Given the description of an element on the screen output the (x, y) to click on. 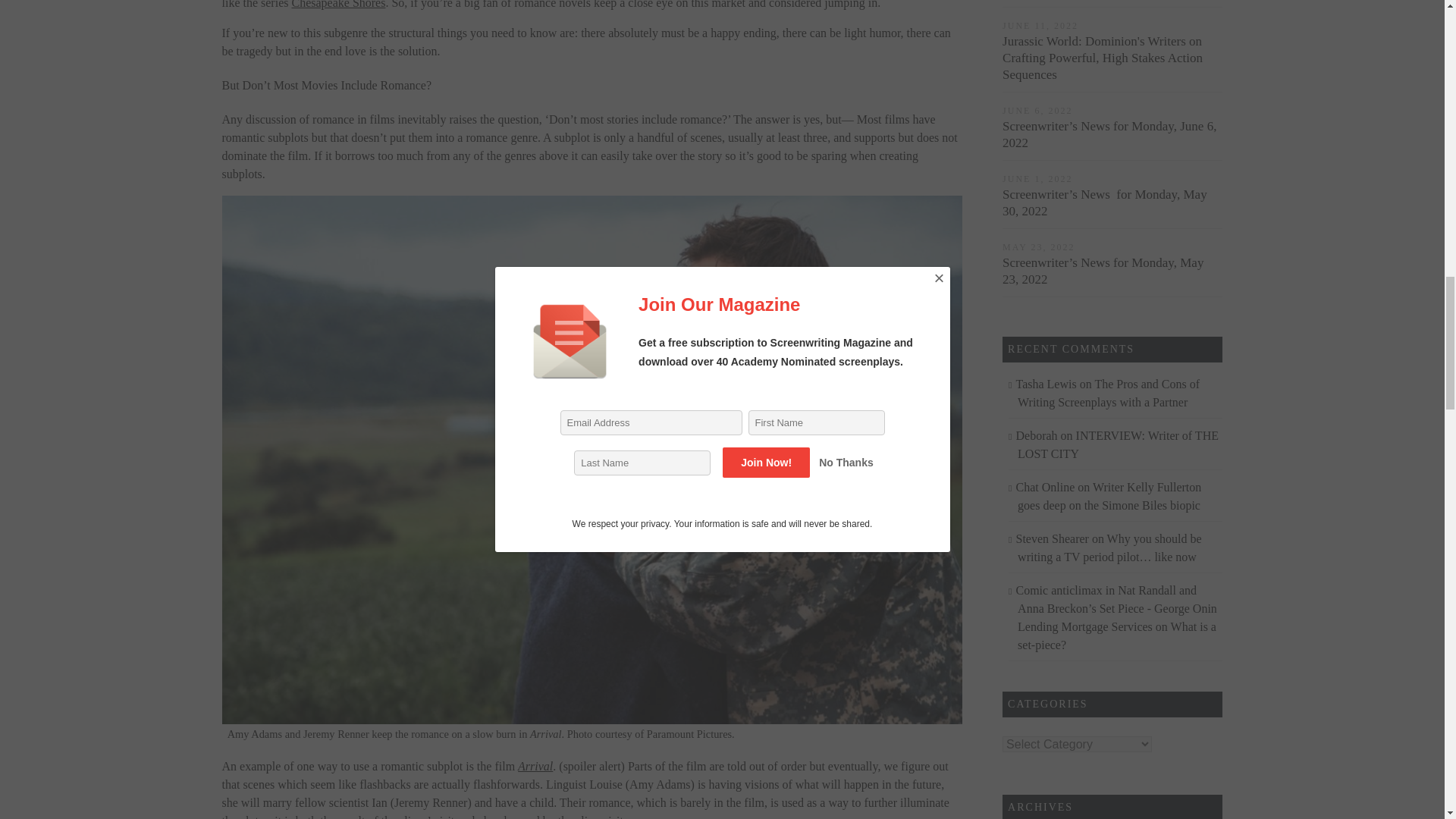
Arrival (535, 766)
Chesapeake Shores (338, 4)
